Given the description of an element on the screen output the (x, y) to click on. 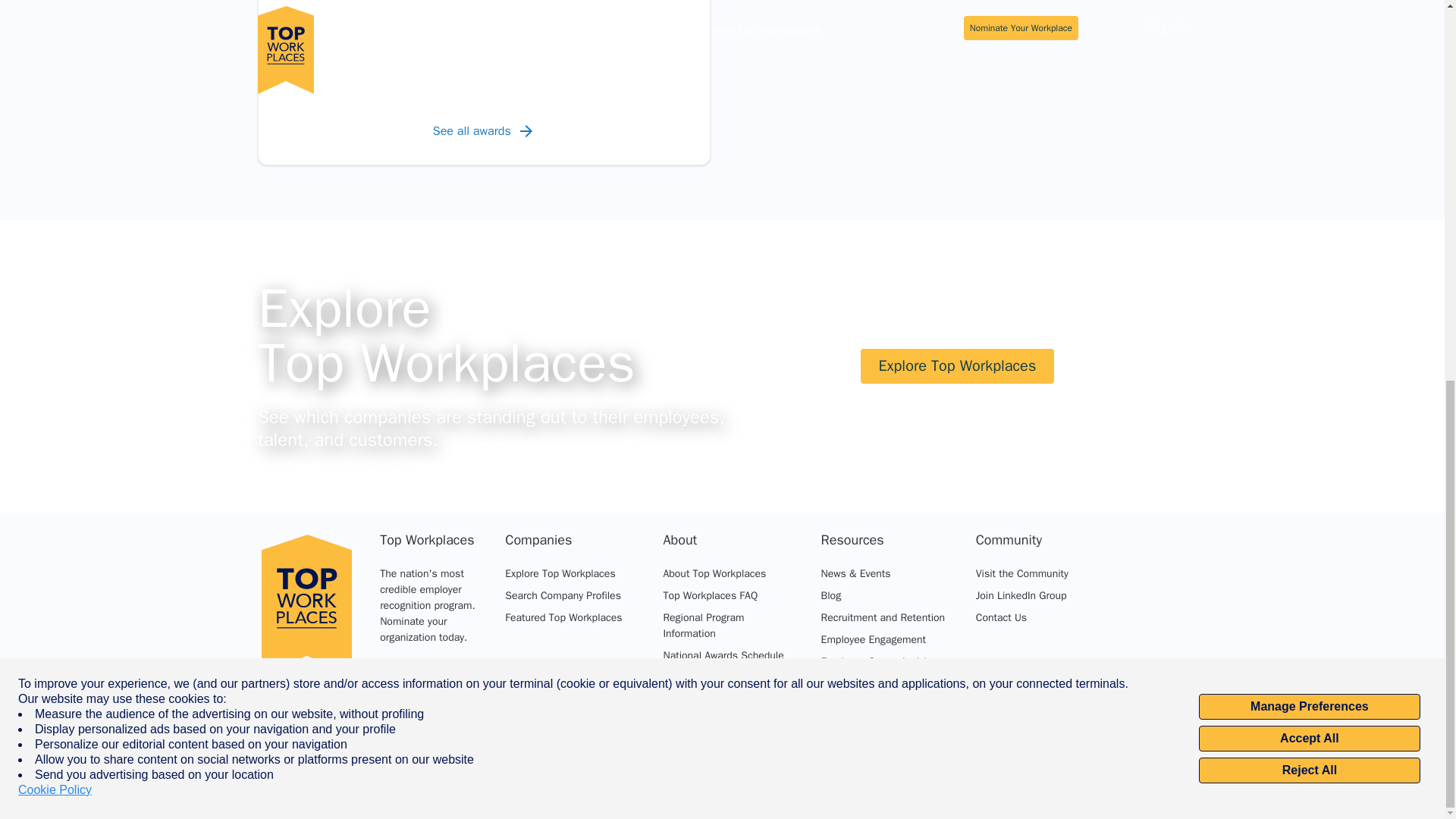
Explore Top Workplaces (957, 366)
Manage Preferences (1309, 5)
Featured Top Workplaces (563, 617)
Reject All (1309, 61)
Cookie Policy (54, 80)
Accept All (1309, 29)
About Top Workplaces (713, 573)
Search Company Profiles (563, 594)
Explore Top Workplaces (559, 573)
See all awards (483, 131)
